Given the description of an element on the screen output the (x, y) to click on. 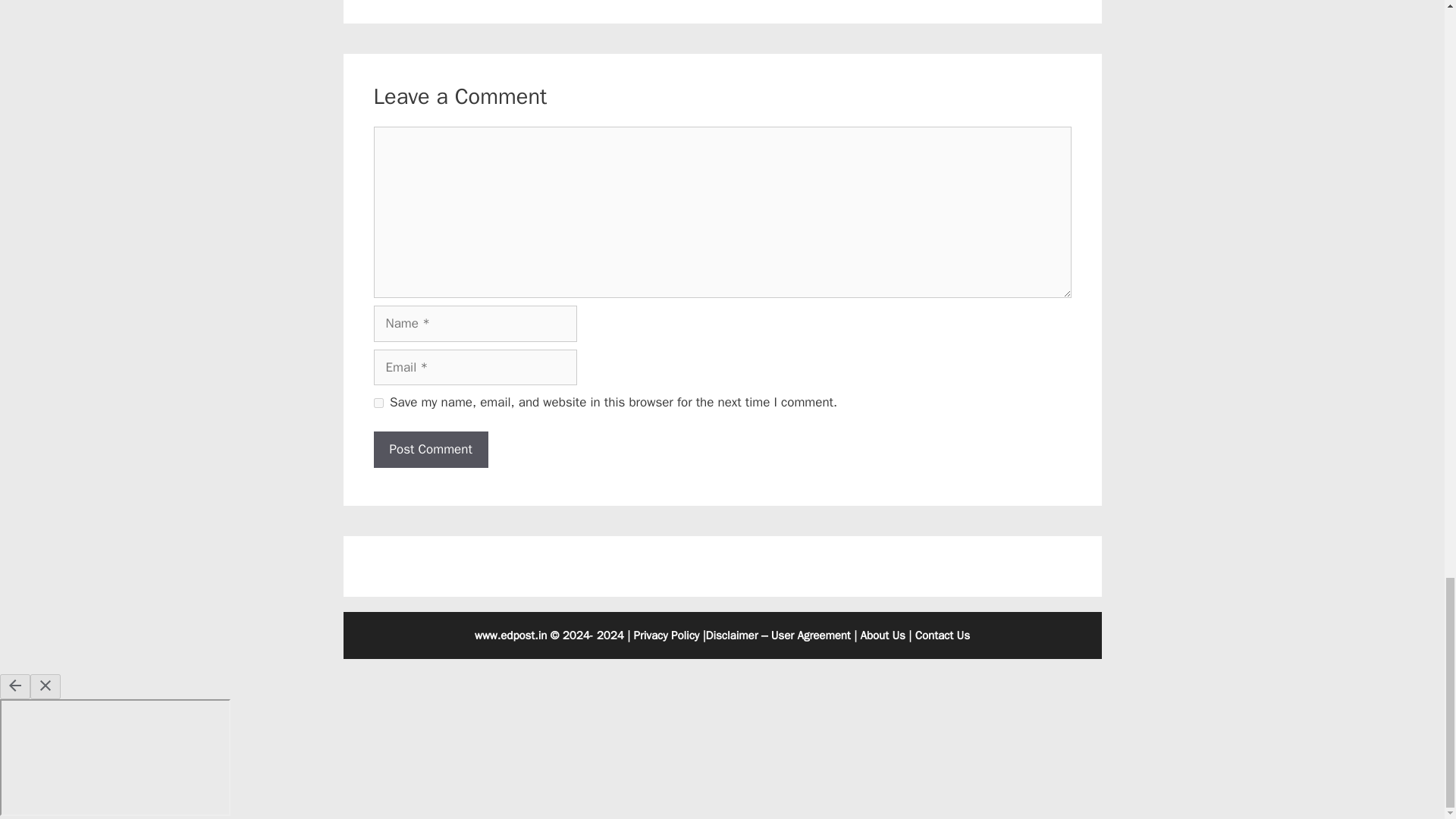
Contact Us (942, 635)
Post Comment (429, 449)
Post Comment (429, 449)
Privacy Policy (666, 635)
About Us (882, 635)
yes (377, 402)
